Given the description of an element on the screen output the (x, y) to click on. 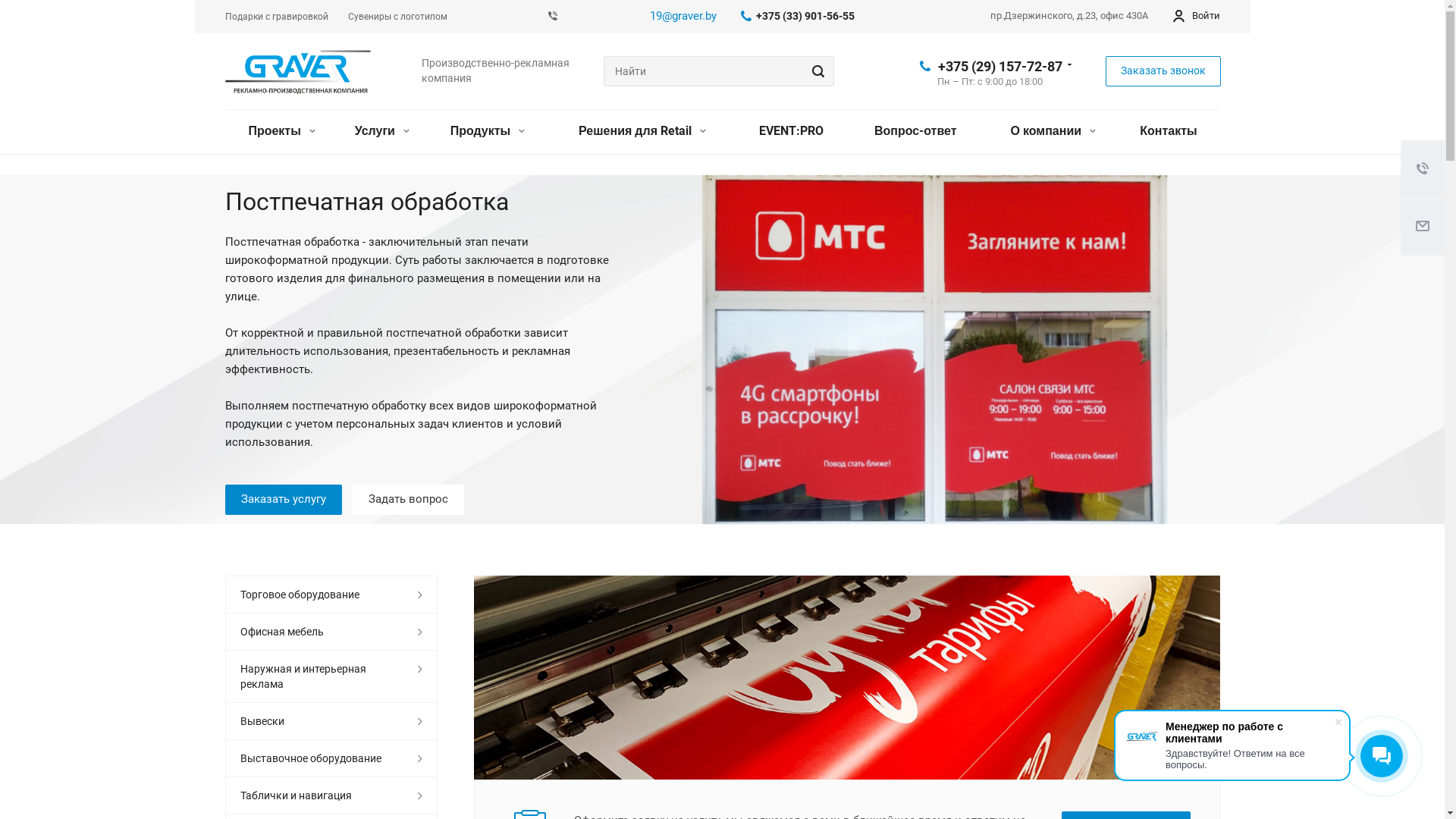
+375 (29) 157-72-87 Element type: text (999, 65)
Pro.graver.By Element type: hover (297, 72)
EVENT:PRO Element type: text (790, 131)
19@graver.by Element type: text (682, 15)
Viber Element type: hover (551, 16)
